Given the description of an element on the screen output the (x, y) to click on. 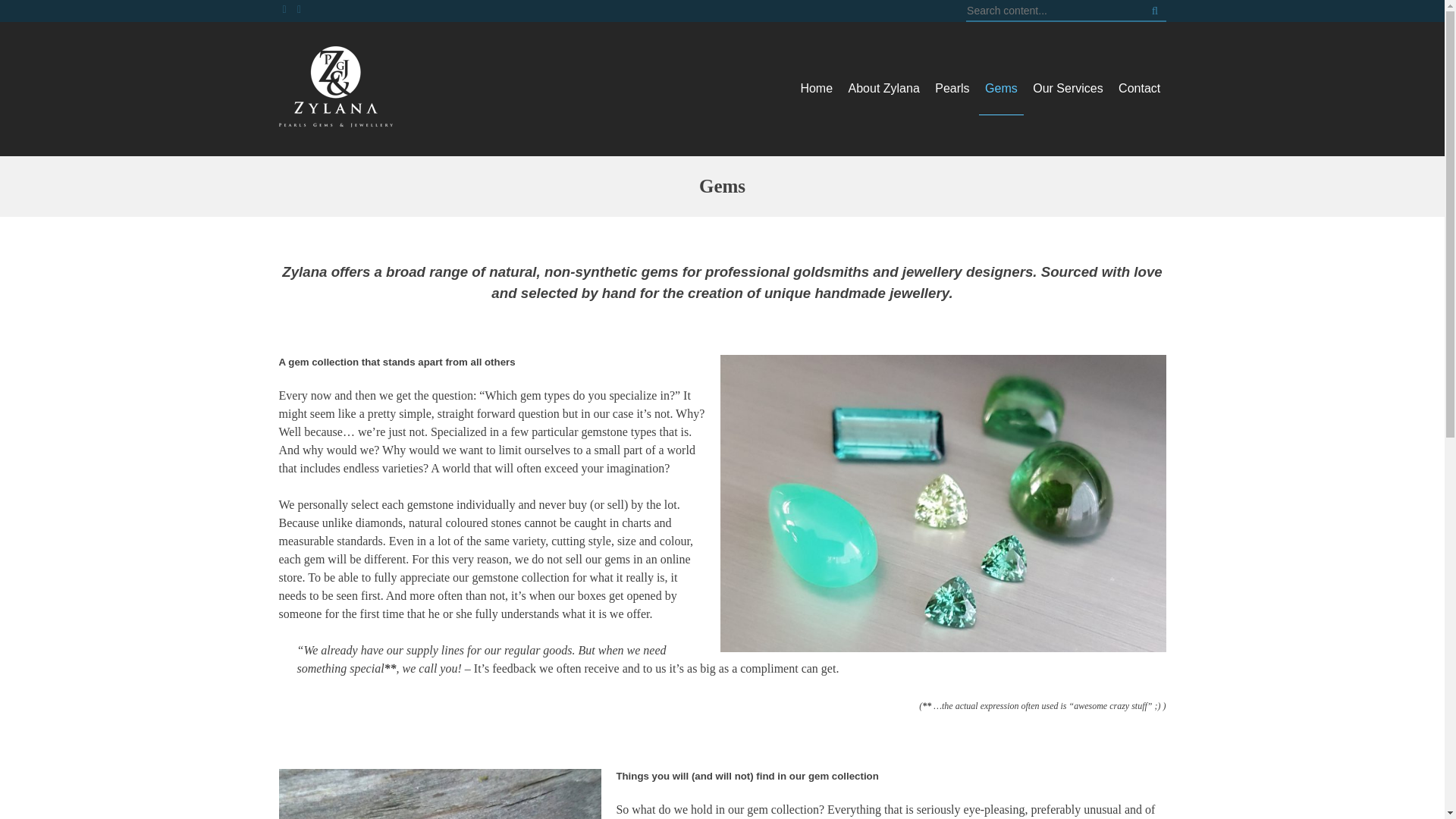
Search for: (1051, 10)
Zylana (306, 159)
Our Services (1067, 89)
Search (1153, 10)
Contact (1136, 89)
About Zylana (884, 89)
